Given the description of an element on the screen output the (x, y) to click on. 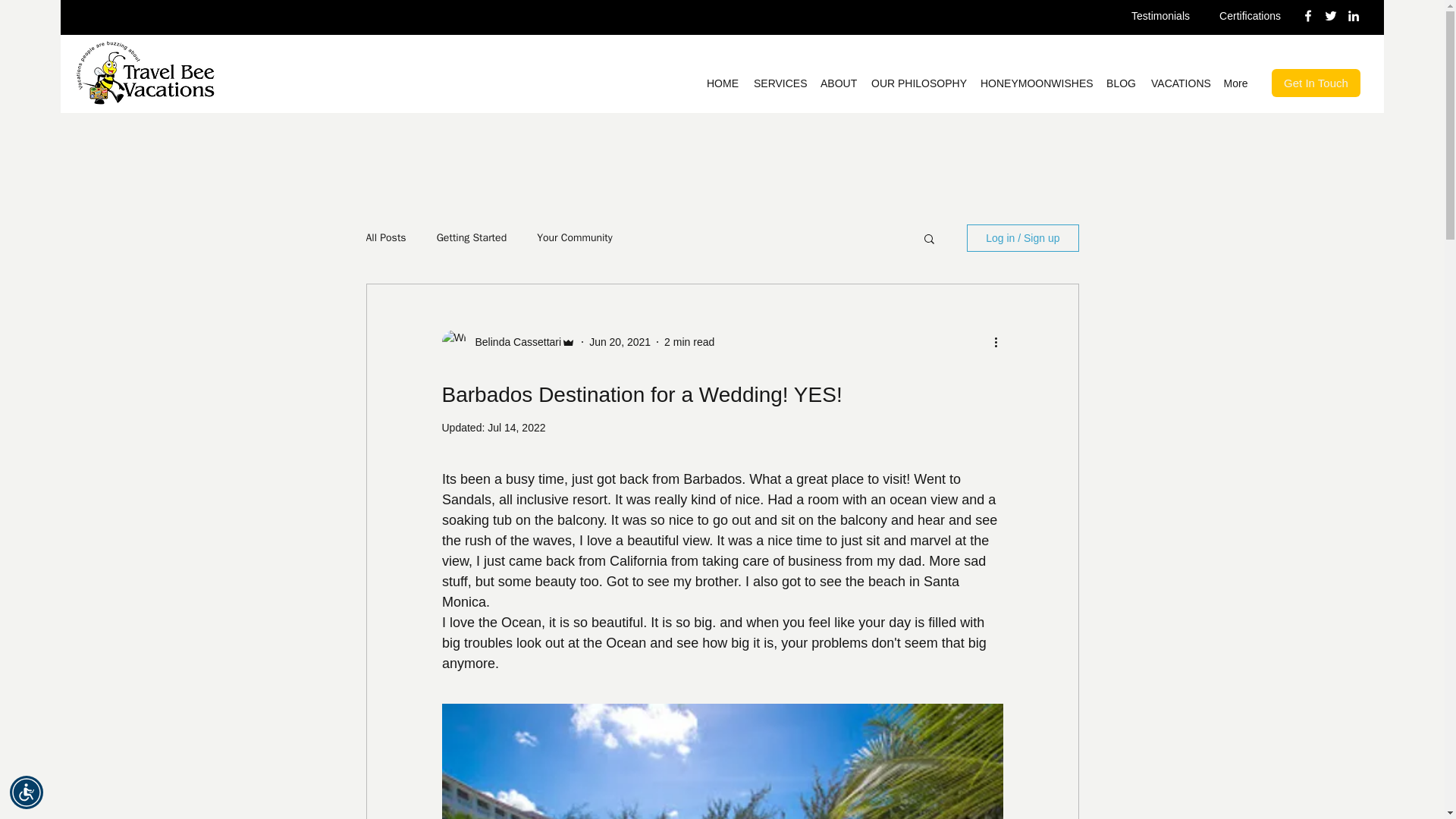
Testimonials (1160, 15)
Accessibility Menu (26, 792)
Get In Touch (1315, 82)
25 Travel Bee Logo FC-Outer glow.png (144, 72)
BLOG (1120, 83)
HOME (721, 83)
HONEYMOONWISHES (1035, 83)
Getting Started (471, 237)
ABOUT (837, 83)
Certifications (1250, 15)
